Given the description of an element on the screen output the (x, y) to click on. 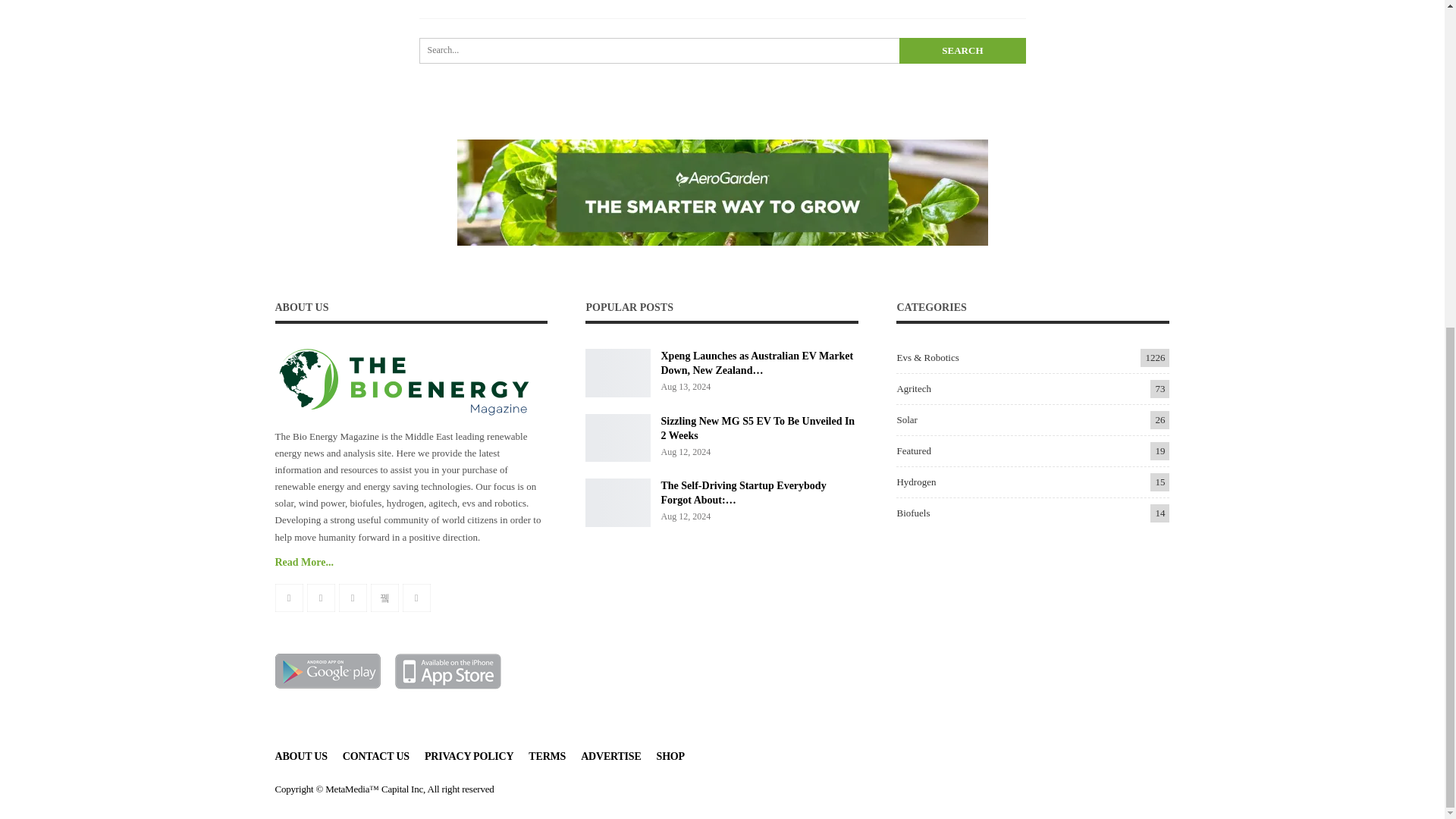
Read More... (304, 562)
Search for: (722, 50)
Sizzling New MG S5 EV To Be Unveiled In 2 Weeks (617, 438)
Search (962, 50)
Search (962, 50)
Search (962, 50)
